Given the description of an element on the screen output the (x, y) to click on. 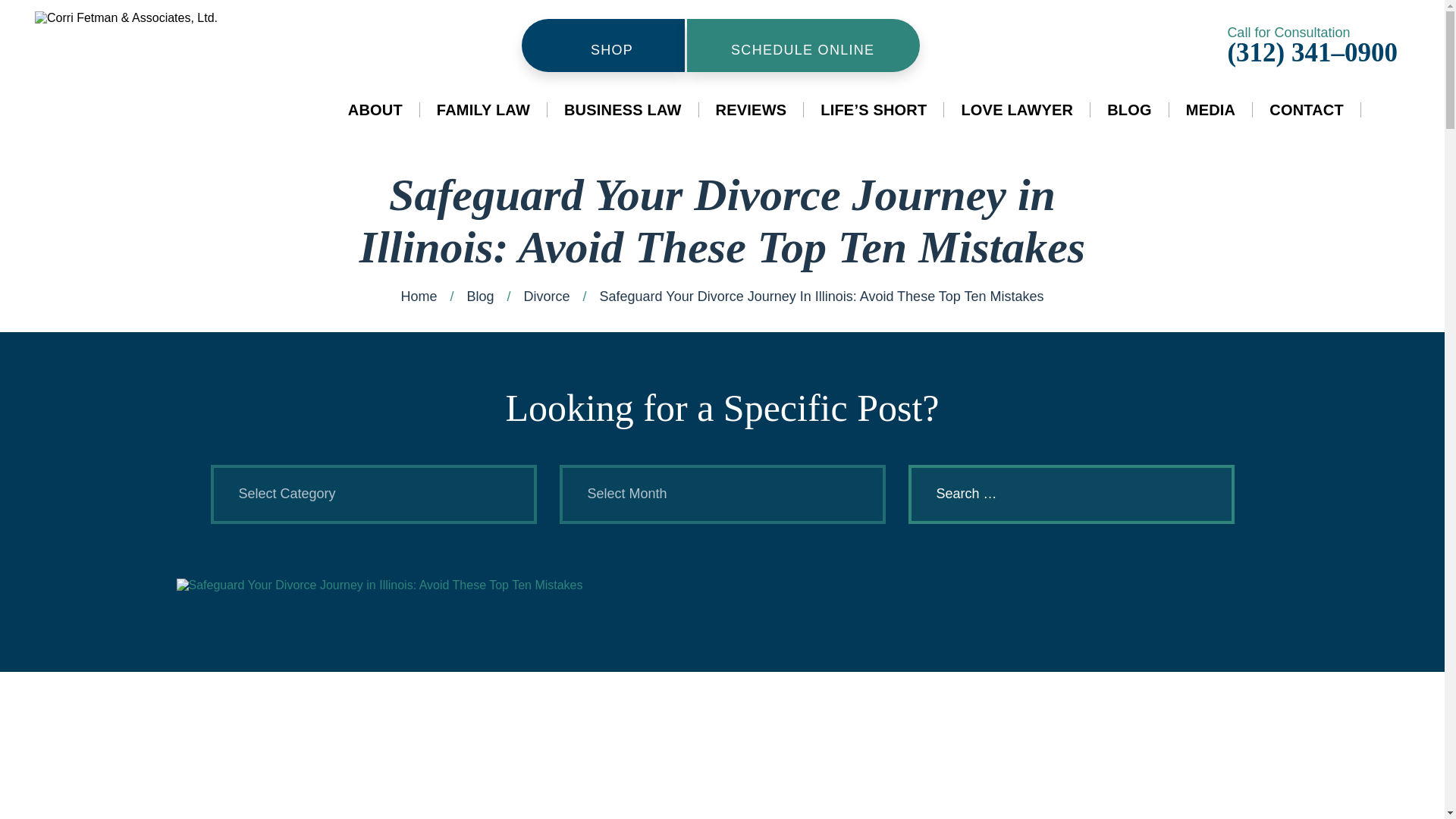
Search (1200, 494)
Search (1200, 494)
Go to the Divorce Category archives. (545, 296)
Go to Blog. (479, 296)
